Given the description of an element on the screen output the (x, y) to click on. 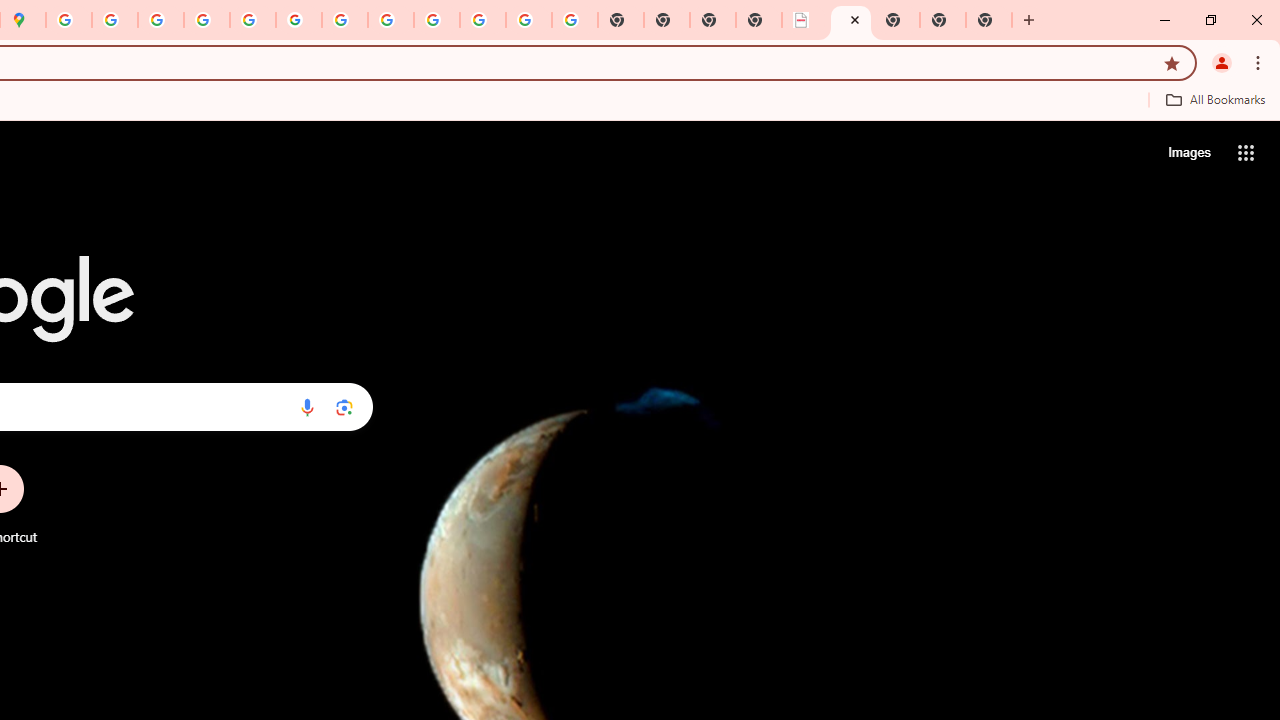
Privacy Help Center - Policies Help (161, 20)
New Tab (943, 20)
Privacy Help Center - Policies Help (207, 20)
